Given the description of an element on the screen output the (x, y) to click on. 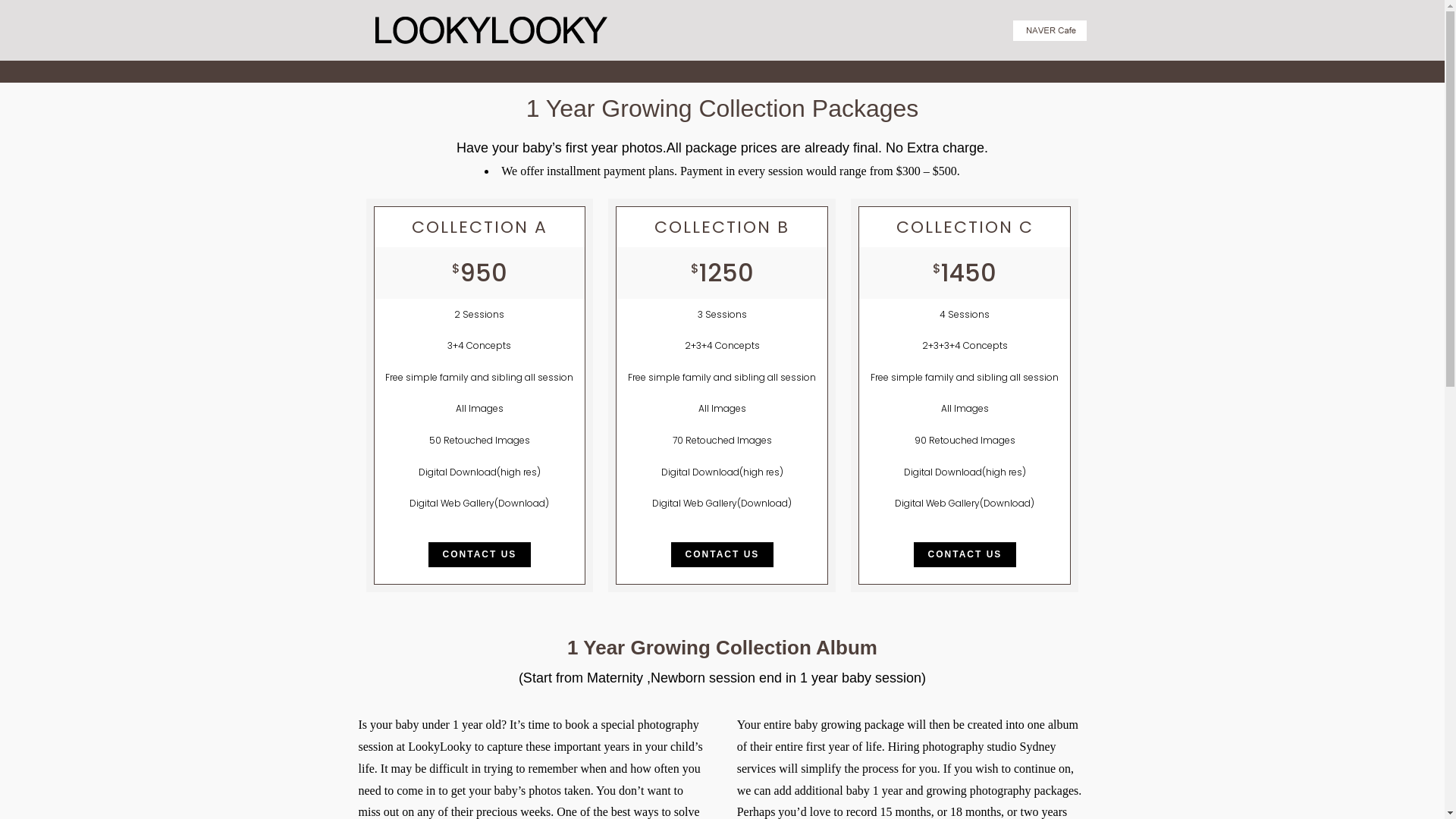
CONTACT US Element type: text (722, 554)
CONTACT US Element type: text (964, 554)
CONTACT US Element type: text (479, 554)
